Given the description of an element on the screen output the (x, y) to click on. 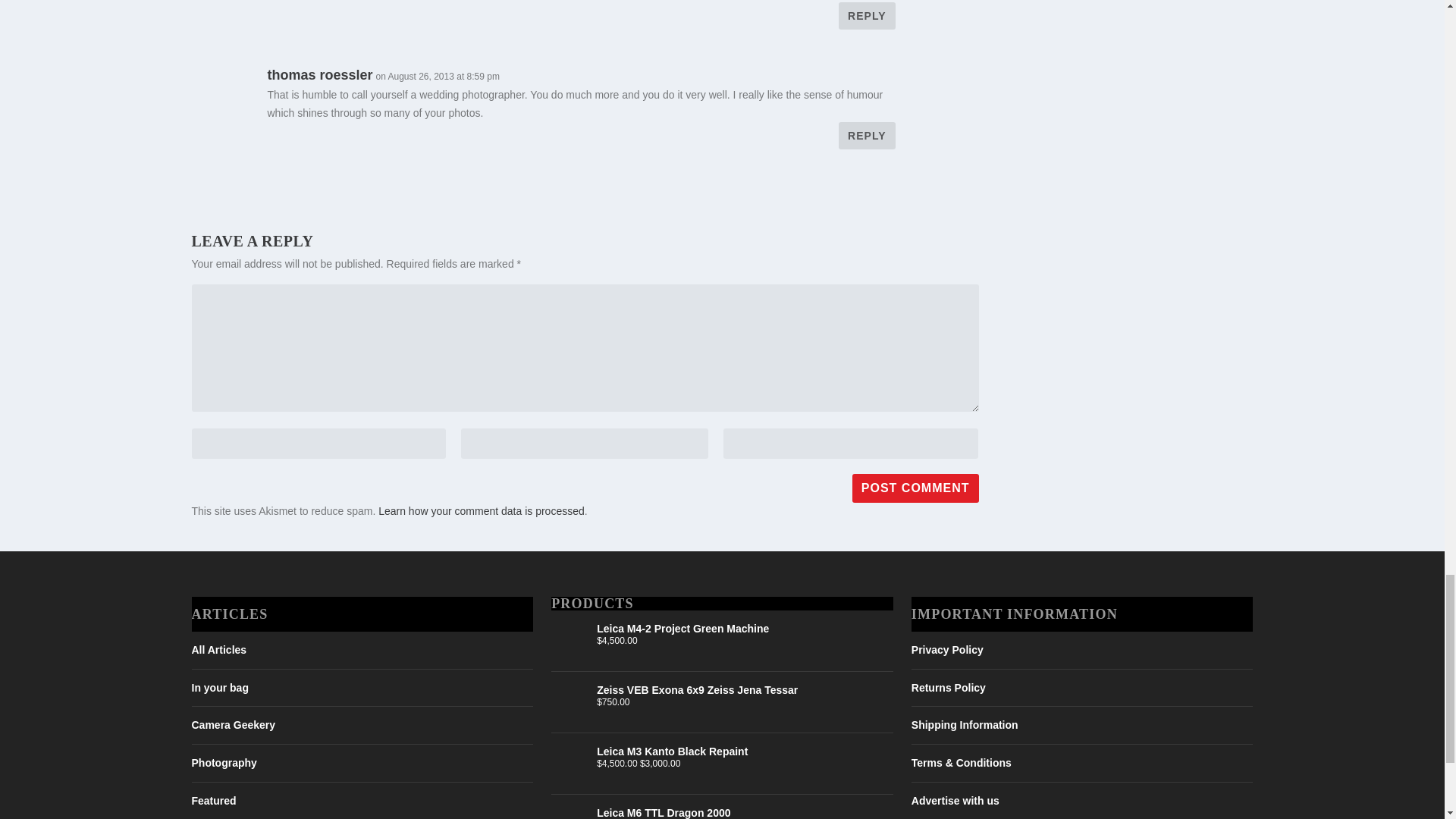
Post Comment (914, 488)
